Given the description of an element on the screen output the (x, y) to click on. 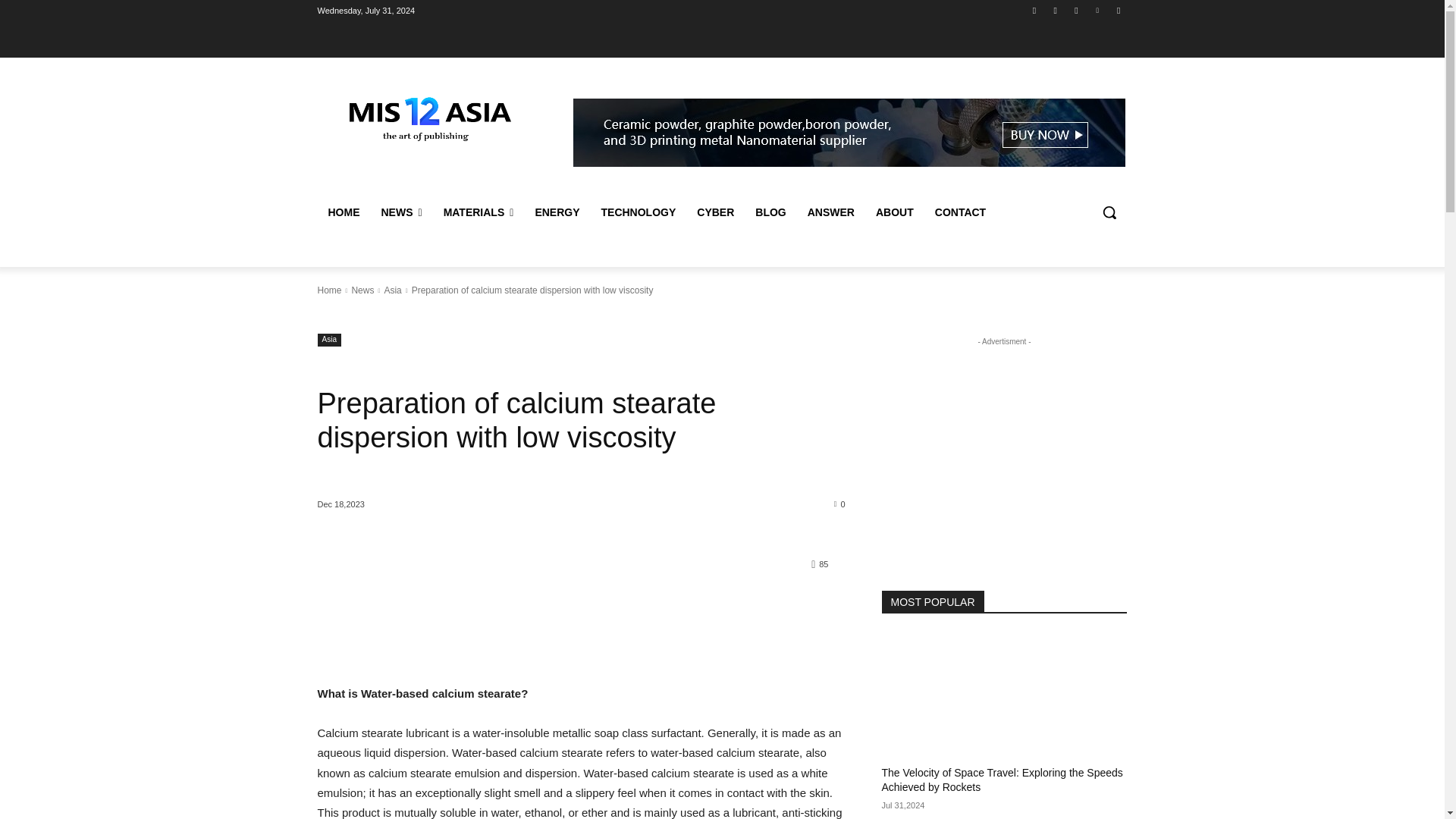
Instagram (1055, 9)
Youtube (1117, 9)
View all posts in Asia (392, 290)
View all posts in News (362, 290)
Vimeo (1097, 9)
Facebook (1034, 9)
Twitter (1075, 9)
